Given the description of an element on the screen output the (x, y) to click on. 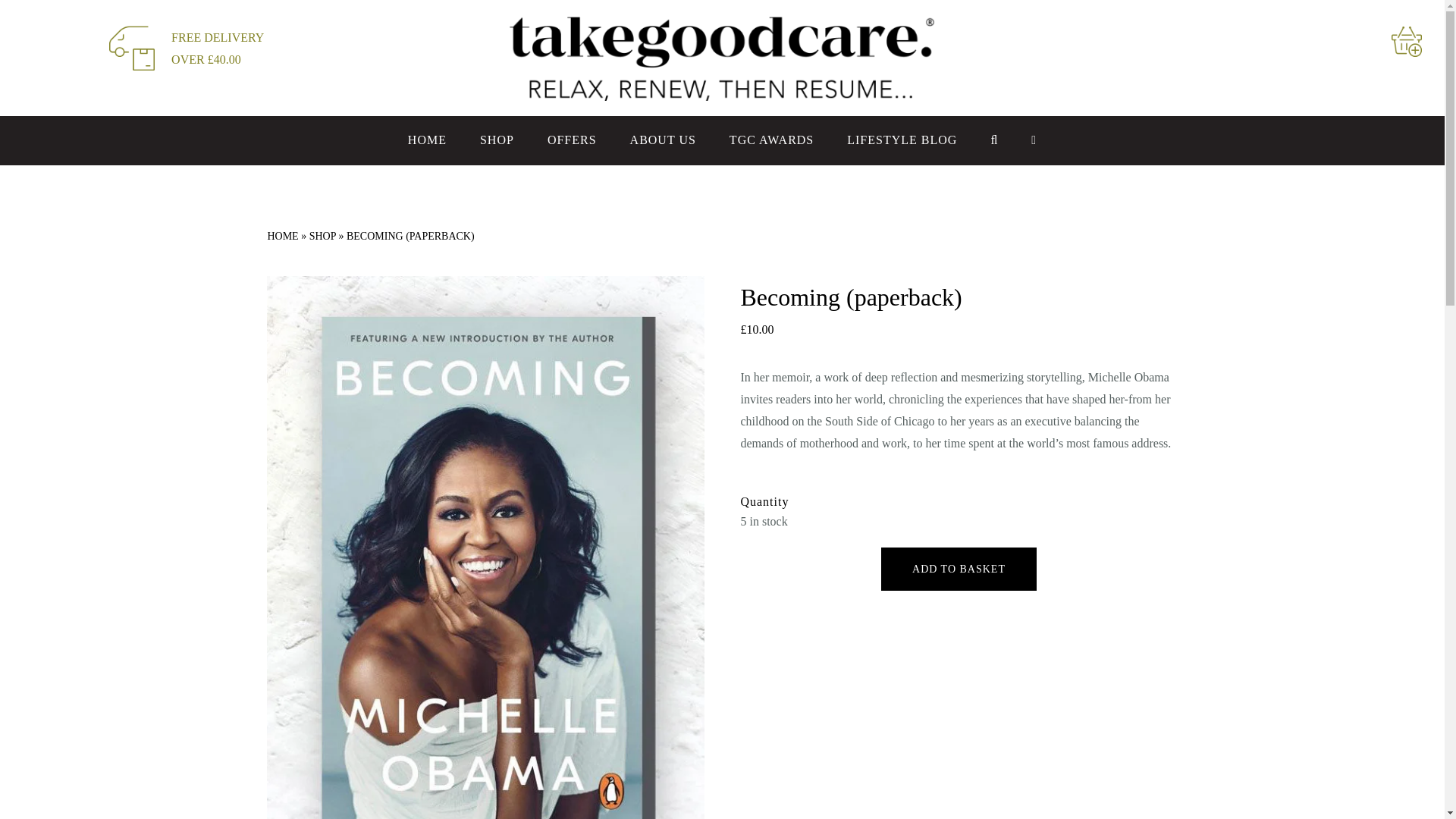
TGC-Logo-600 (722, 57)
TGC AWARDS (771, 140)
HOME (427, 140)
ABOUT US (662, 140)
Shop-Basket-icon (1406, 41)
SHOP (497, 140)
Free-delivery-icon-v2 (131, 47)
OFFERS (571, 140)
